Given the description of an element on the screen output the (x, y) to click on. 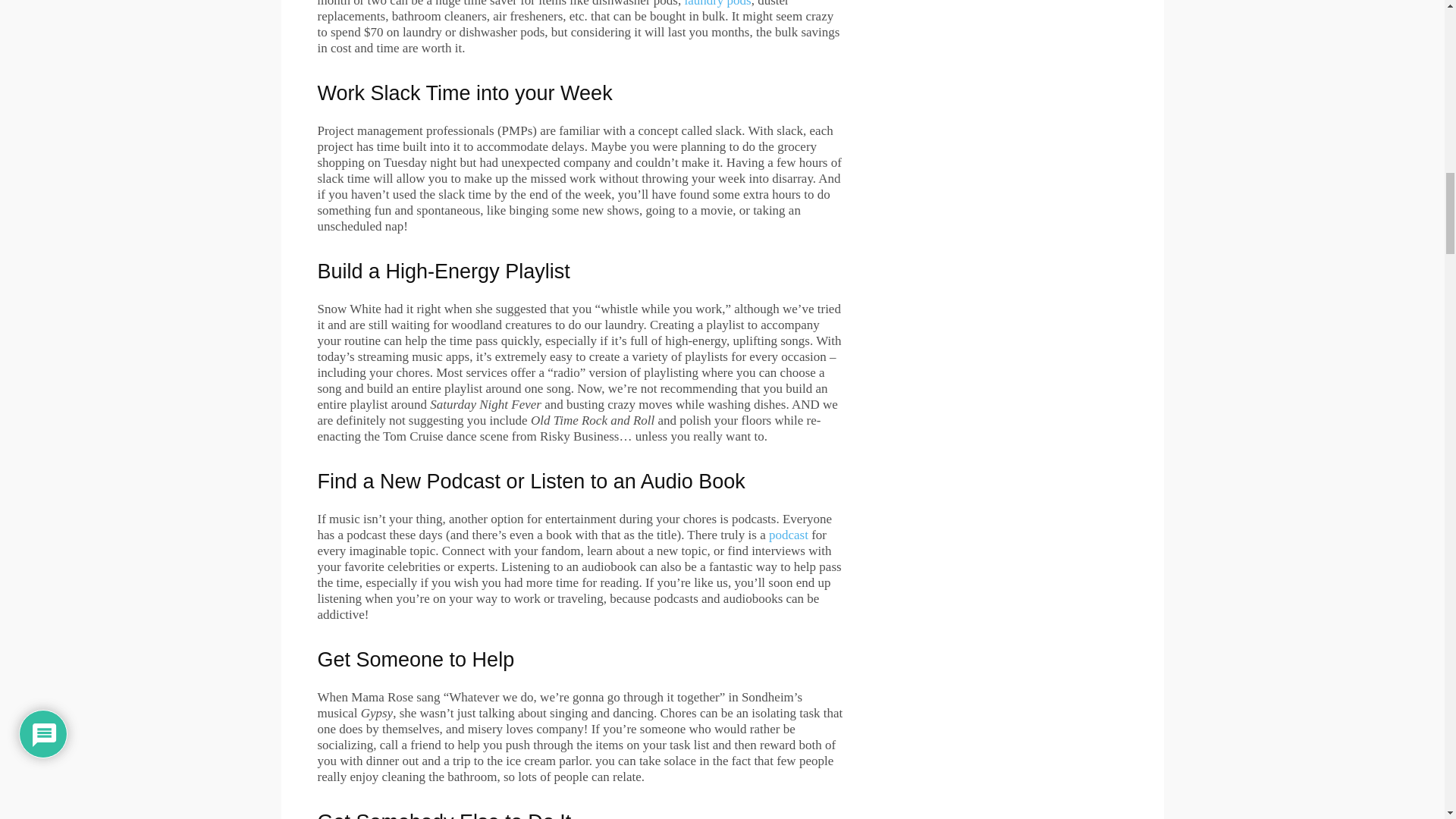
podcast (788, 534)
laundry pods (717, 3)
